Given the description of an element on the screen output the (x, y) to click on. 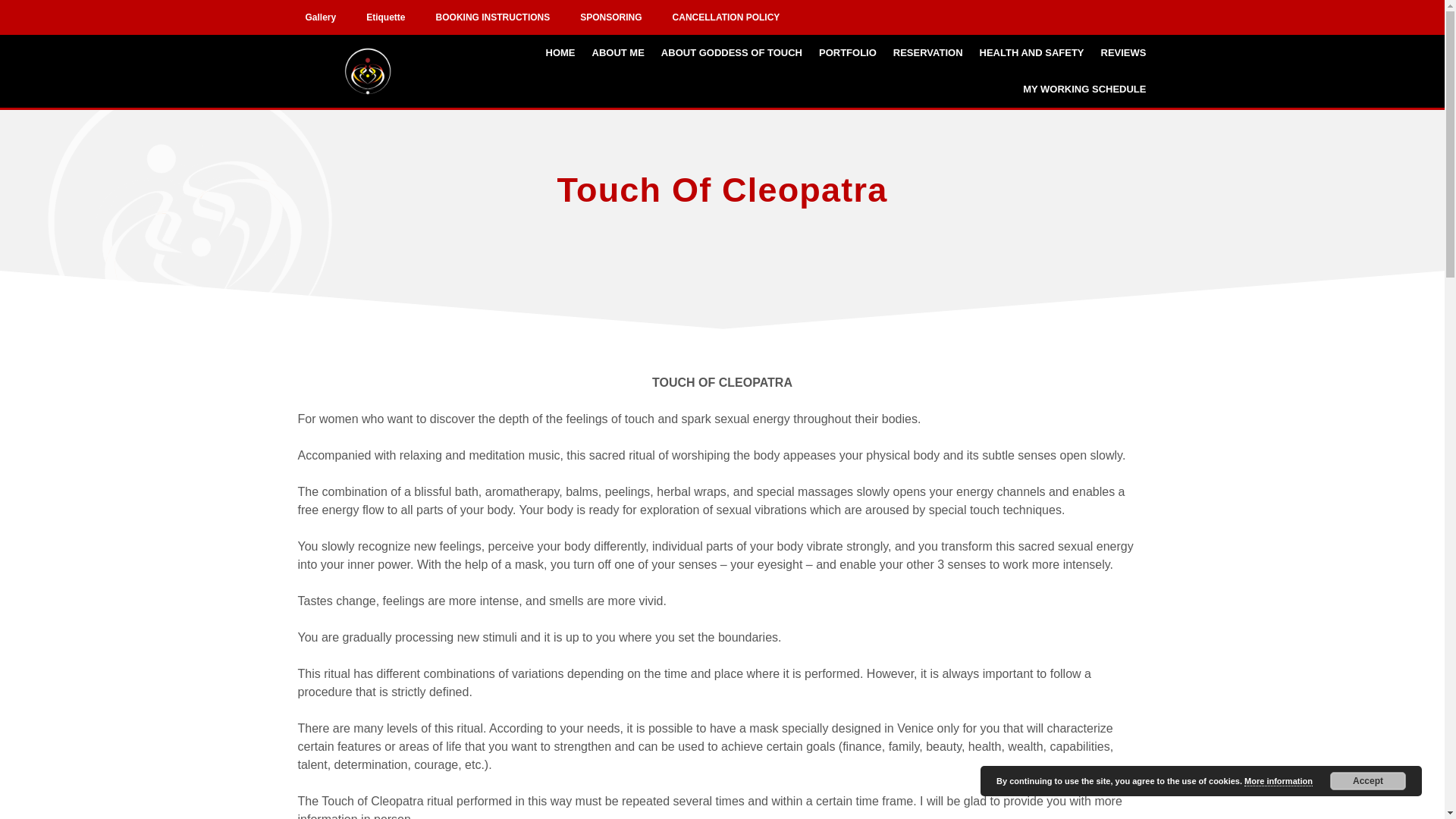
REVIEWS (1123, 53)
RESERVATION (928, 53)
CANCELLATION POLICY (726, 17)
Gallery (319, 17)
HEALTH AND SAFETY (1032, 53)
PORTFOLIO (847, 53)
ABOUT GODDESS OF TOUCH (731, 53)
MY WORKING SCHEDULE (1084, 89)
HOME (560, 53)
SPONSORING (610, 17)
Etiquette (385, 17)
BOOKING INSTRUCTIONS (493, 17)
ABOUT ME (617, 53)
